Given the description of an element on the screen output the (x, y) to click on. 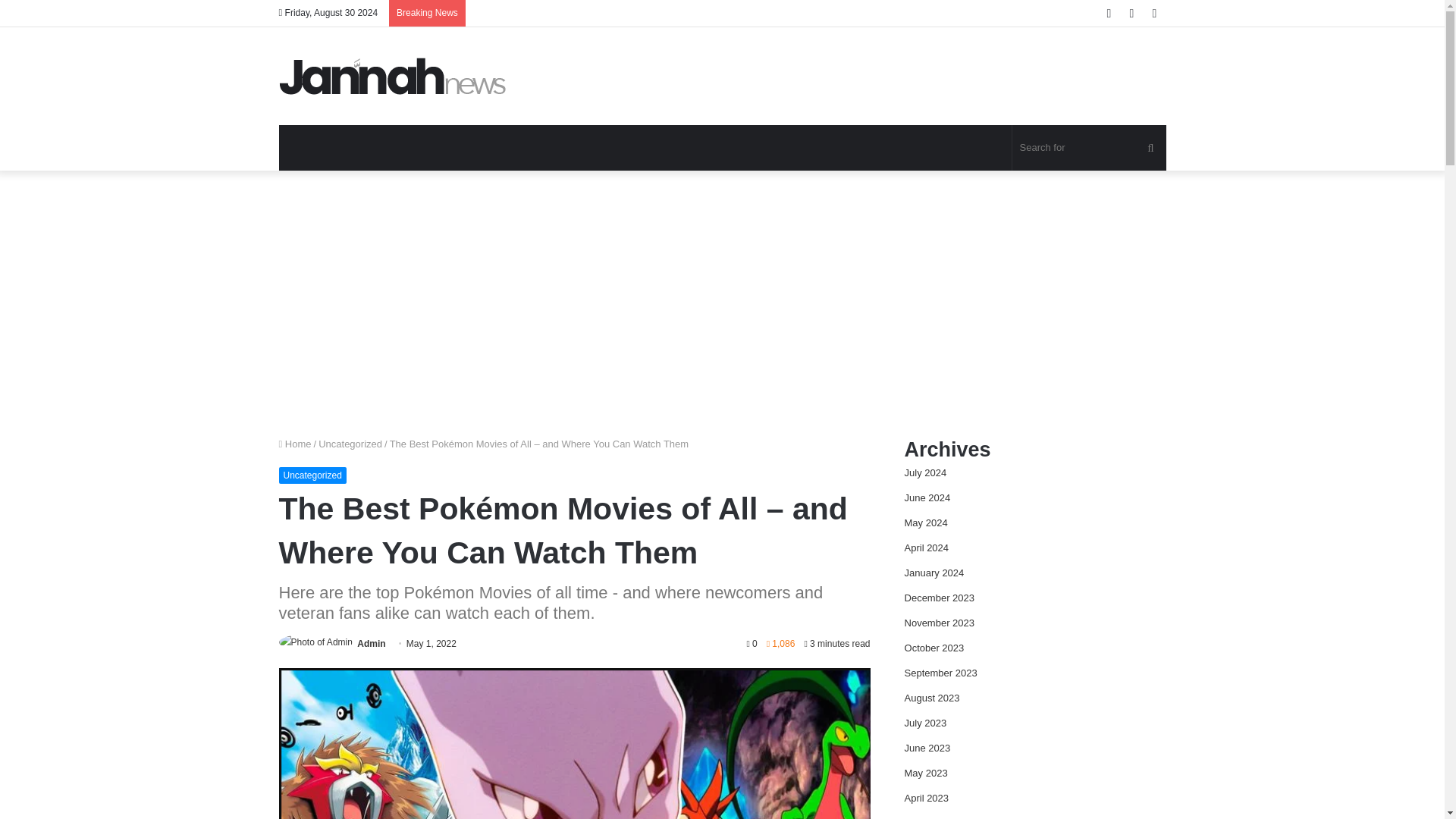
Home (295, 443)
Admin (370, 643)
Search for (1088, 147)
Admin (370, 643)
Uncategorized (349, 443)
Uncategorized (312, 475)
Movie News (392, 76)
